Given the description of an element on the screen output the (x, y) to click on. 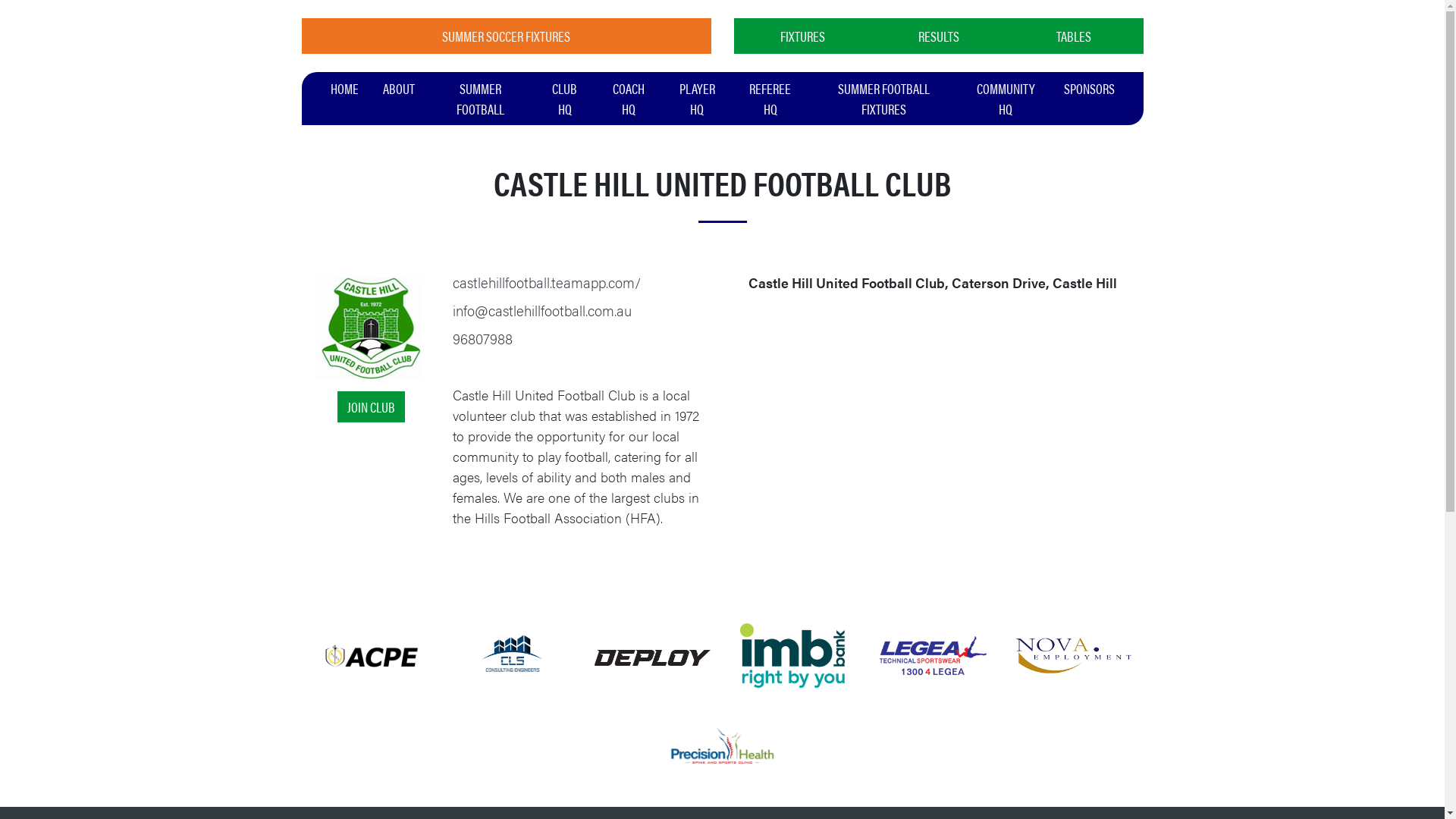
HOME Element type: text (344, 88)
PLAYER HQ Element type: text (697, 98)
Visit IMB BANK online Element type: hover (792, 652)
COACH HQ Element type: text (628, 98)
REFEREE HQ Element type: text (770, 98)
ABOUT Element type: text (398, 88)
COMMUNITY HQ Element type: text (1005, 98)
Visit ACPE online Element type: hover (371, 652)
SUMMER FOOTBALL FIXTURES Element type: text (884, 98)
CLUB HQ Element type: text (564, 98)
96807988 Element type: text (482, 337)
FIXTURES Element type: text (803, 35)
JOIN CLUB Element type: text (370, 406)
castlehillfootball.teamapp.com/ Element type: text (546, 281)
Visit CLS Consulting Engineers online Element type: hover (512, 652)
SUMMER SOCCER FIXTURES Element type: text (506, 35)
Visit Nova Employment online Element type: hover (1072, 652)
TABLES Element type: text (1074, 35)
Visit LEGEA Technical Sportswear online Element type: hover (933, 652)
info@castlehillfootball.com.au Element type: text (541, 309)
SUMMER FOOTBALL Element type: text (479, 98)
Visit Deploy Football online Element type: hover (652, 655)
SPONSORS Element type: text (1088, 88)
RESULTS Element type: text (938, 35)
